Given the description of an element on the screen output the (x, y) to click on. 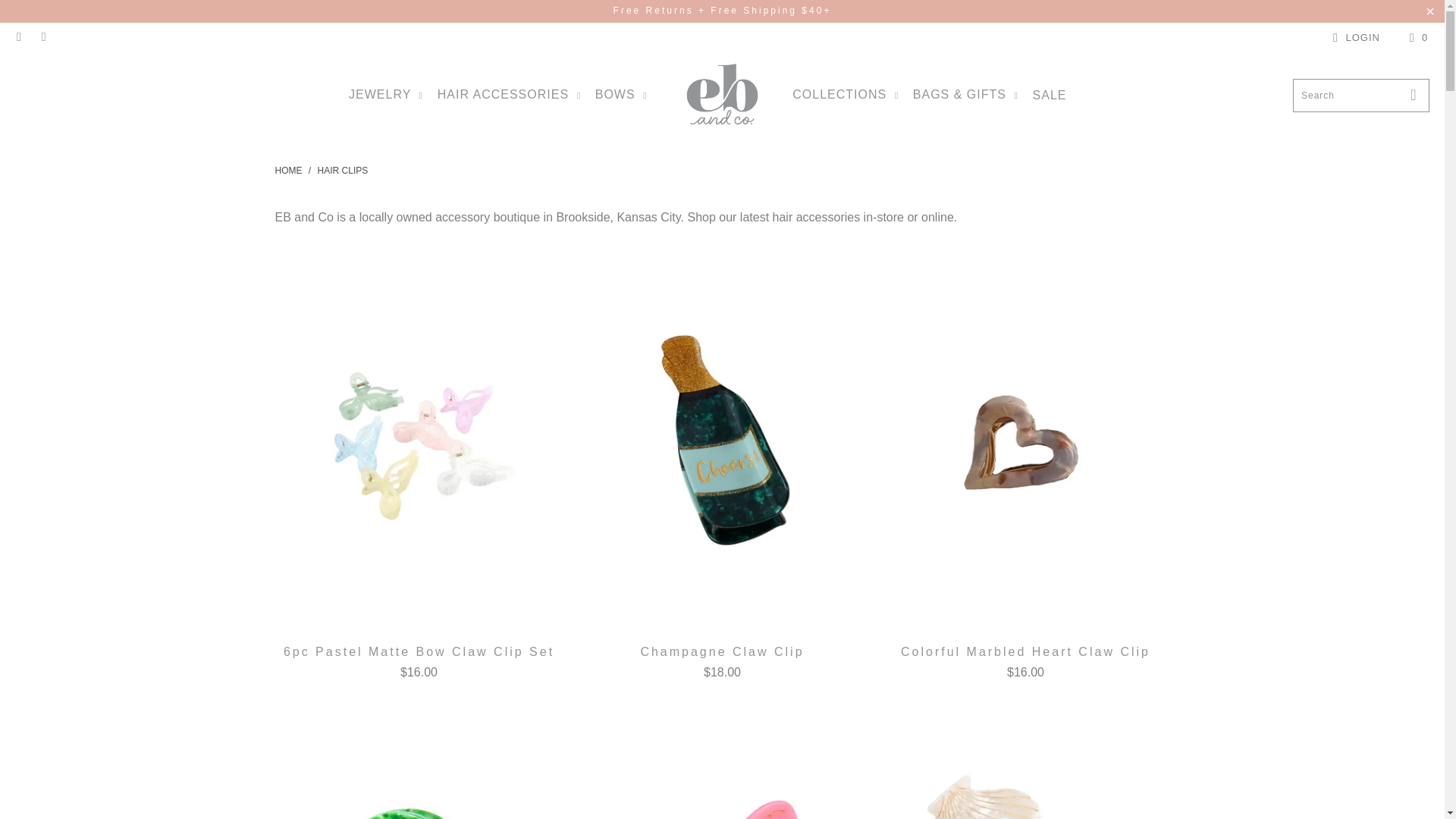
EB and Co. on Facebook (17, 37)
My Account  (1353, 37)
Hair Clips (342, 170)
EB and Co. (288, 170)
EB and Co. on Instagram (42, 37)
EB and Co. (721, 95)
